Given the description of an element on the screen output the (x, y) to click on. 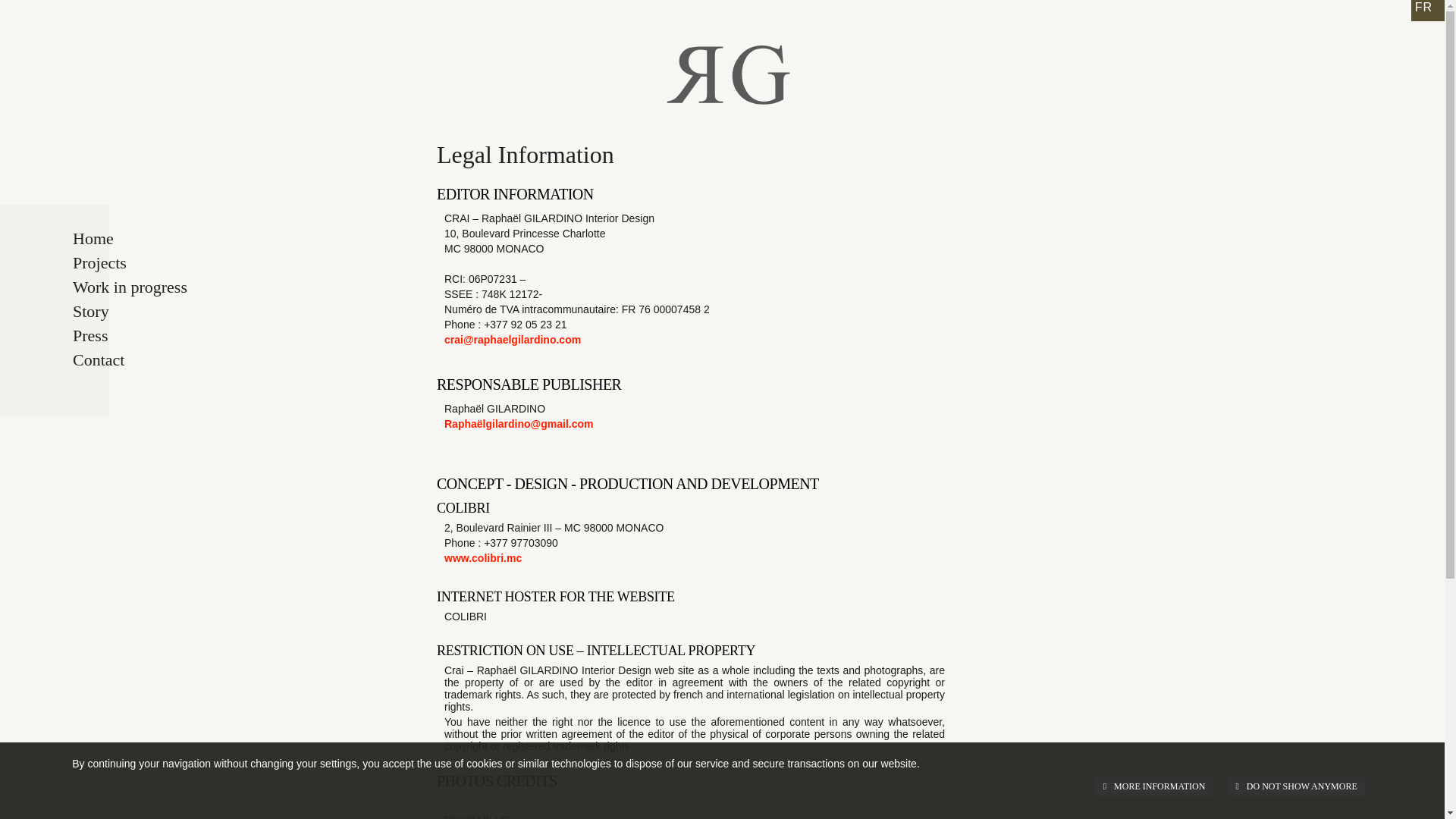
Work in progress (161, 287)
MORE INFORMATION (1154, 786)
Contact (161, 360)
DO NOT SHOW ANYMORE (1295, 786)
Home (161, 238)
www.colibri.mc (482, 558)
FR (1427, 10)
Projects (161, 262)
Story (161, 311)
Press (161, 335)
